Given the description of an element on the screen output the (x, y) to click on. 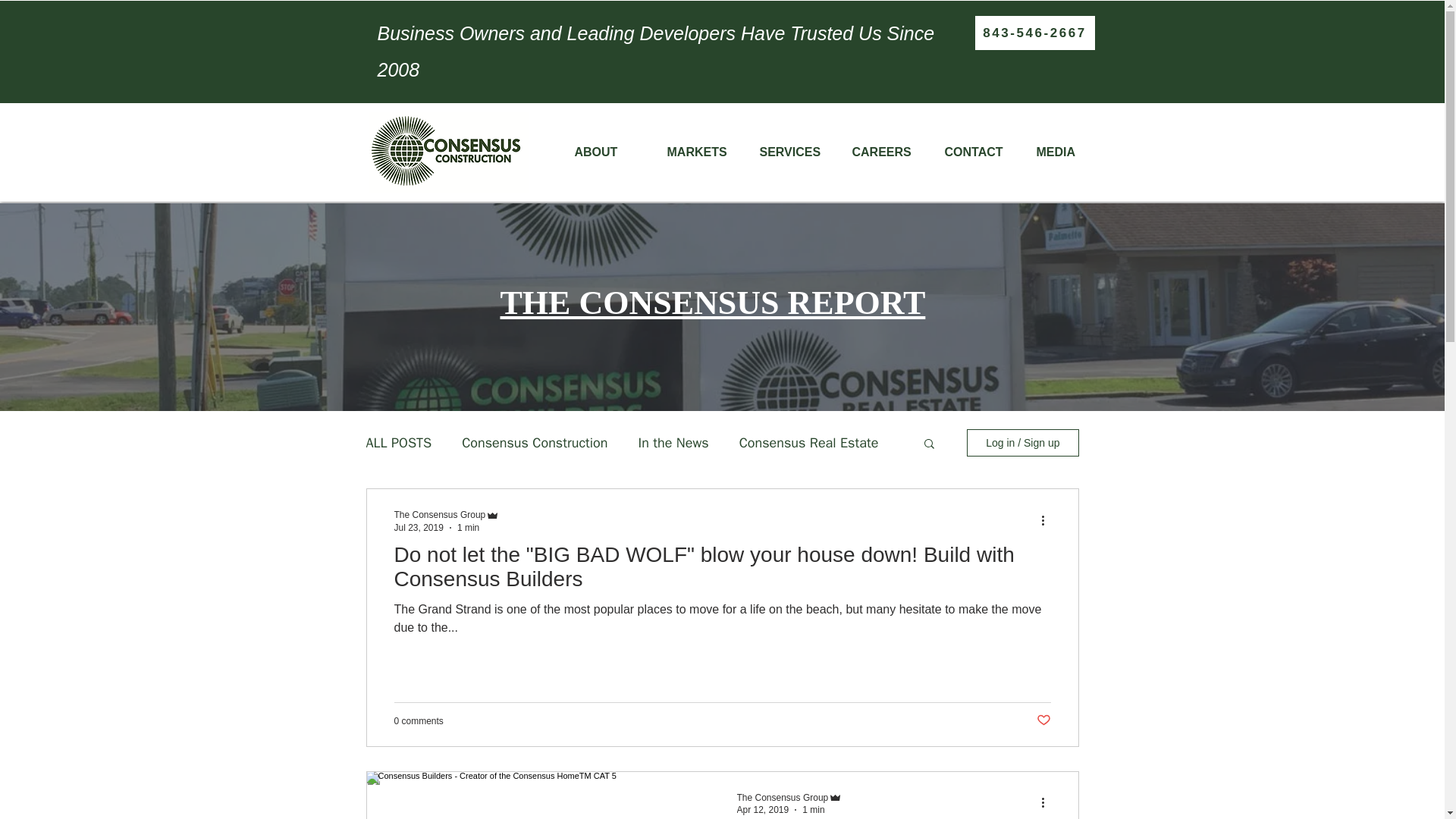
Consensus Real Estate (809, 443)
CONTACT (979, 151)
1 min (468, 526)
The Consensus Group (782, 796)
ABOUT (608, 151)
MARKETS (701, 151)
In the News (674, 443)
SERVICES (794, 151)
843-546-2667 (1034, 32)
MEDIA (1070, 151)
